Given the description of an element on the screen output the (x, y) to click on. 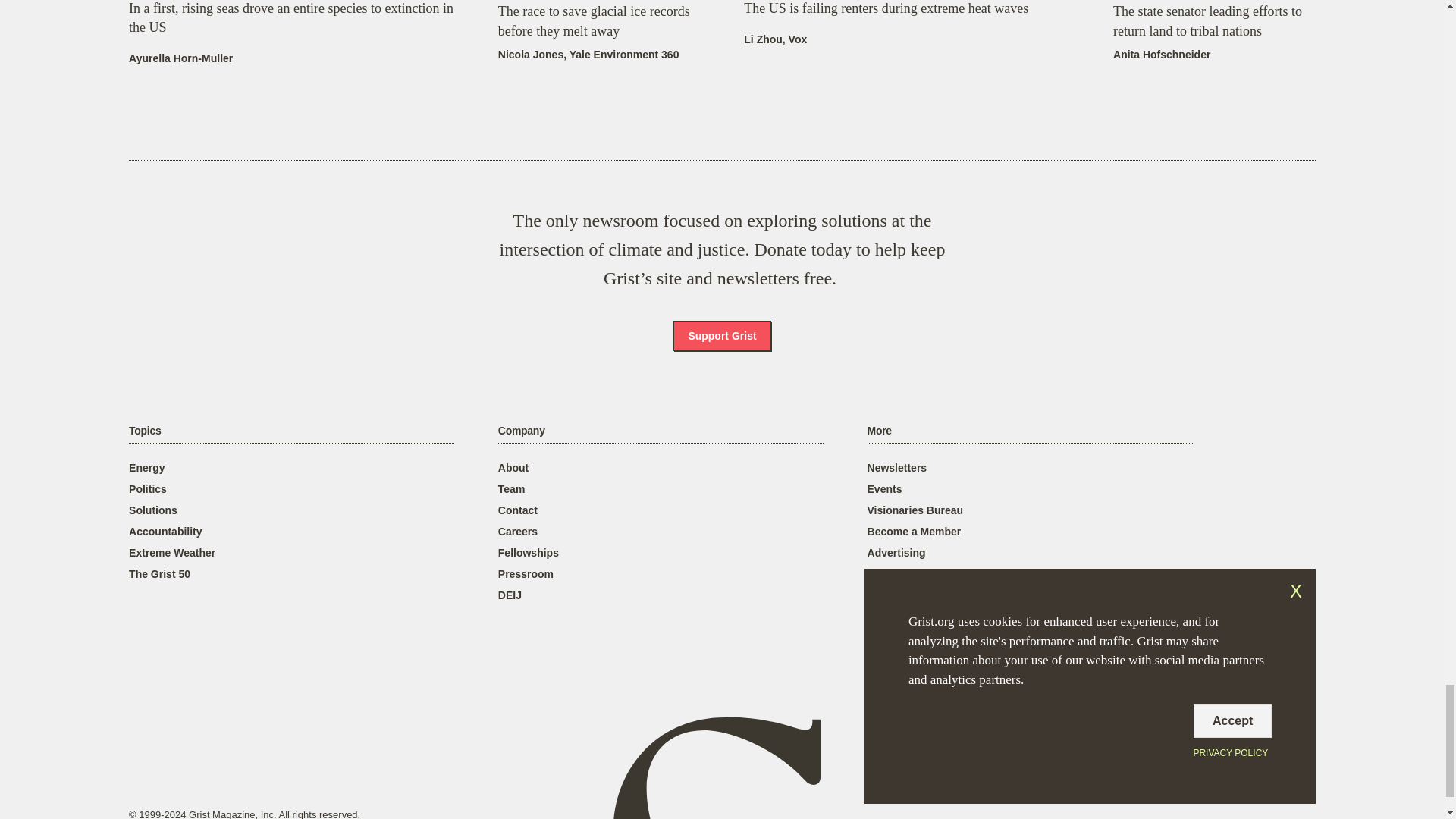
Company (520, 431)
Topics (144, 431)
More (879, 431)
